Given the description of an element on the screen output the (x, y) to click on. 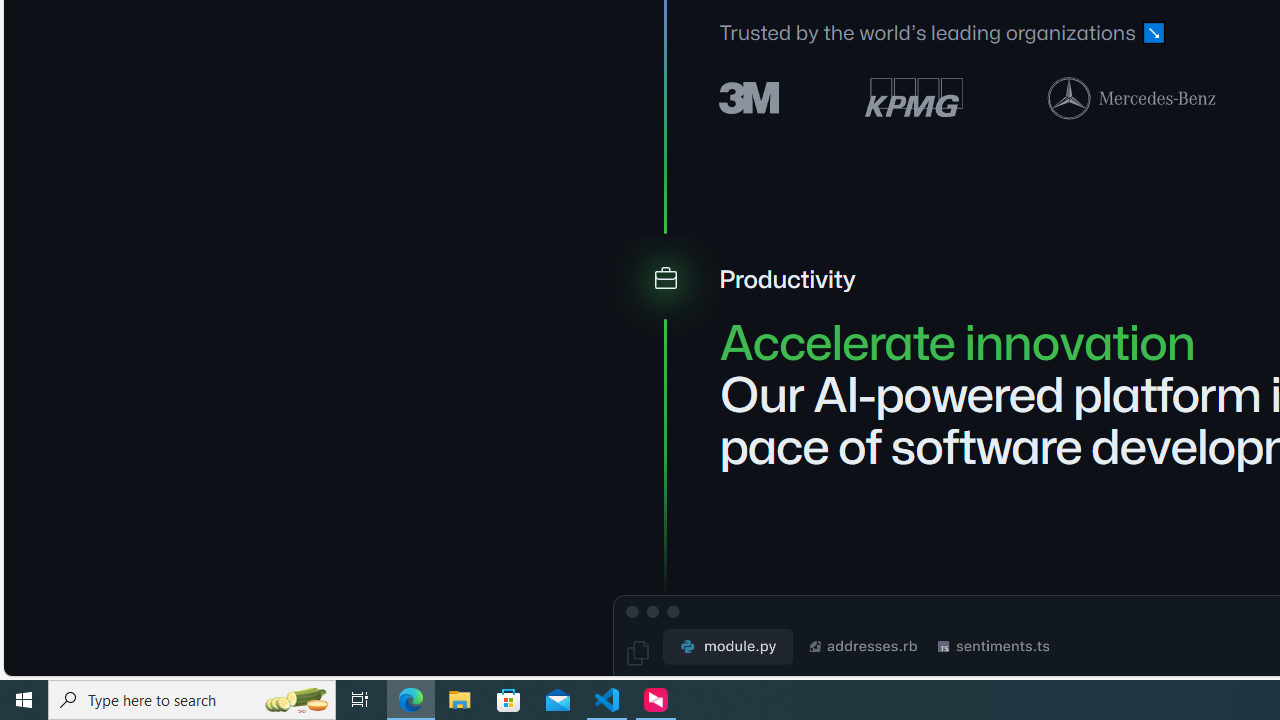
Microsoft Edge - 1 running window (411, 699)
File Explorer (460, 699)
Start (24, 699)
Visual Studio Code - 1 running window (607, 699)
Task View (359, 699)
Search highlights icon opens search home window (295, 699)
Microsoft Store (509, 699)
Type here to search (191, 699)
